Given the description of an element on the screen output the (x, y) to click on. 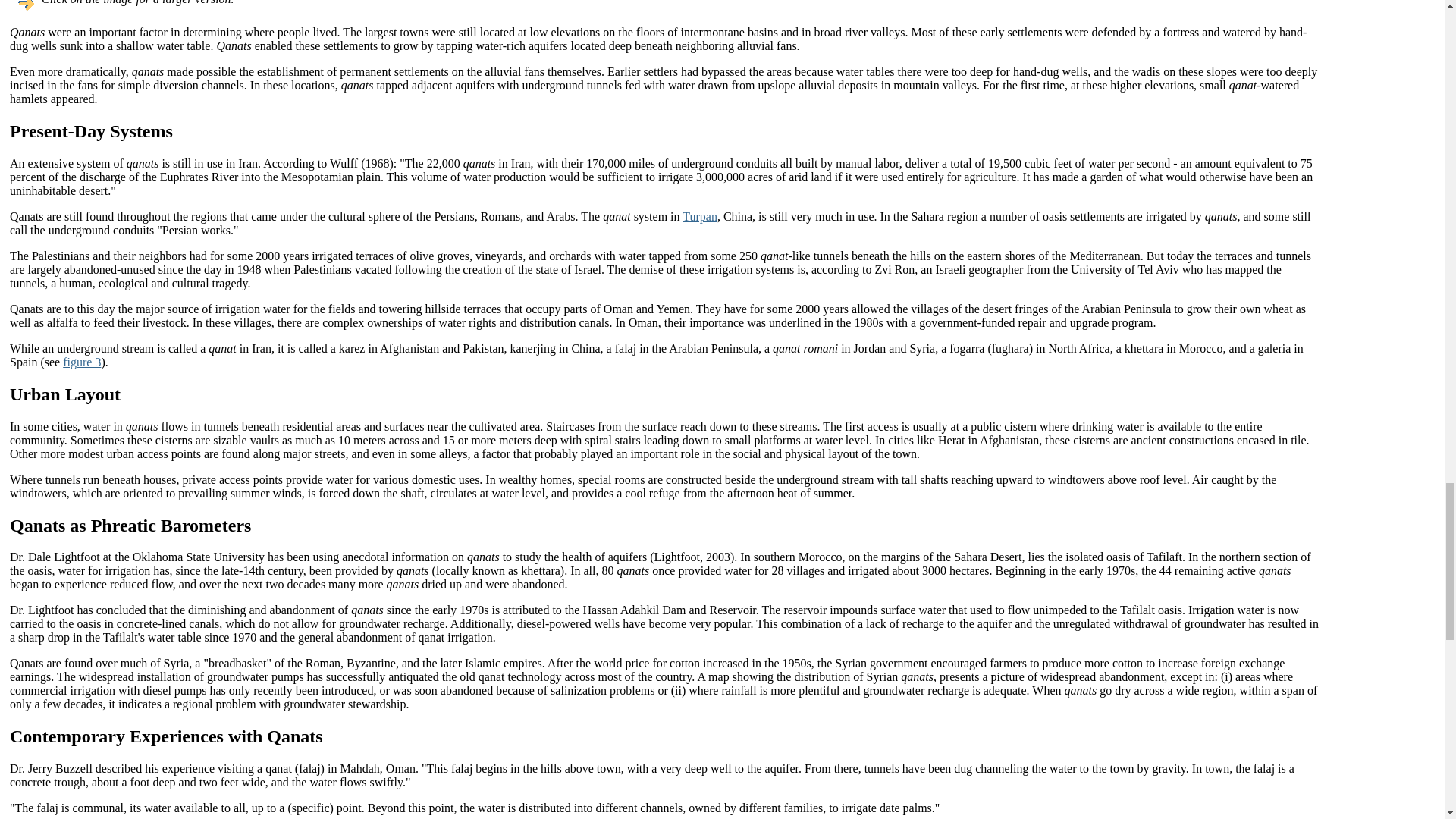
Turpan (699, 215)
figure 3 (81, 361)
